Given the description of an element on the screen output the (x, y) to click on. 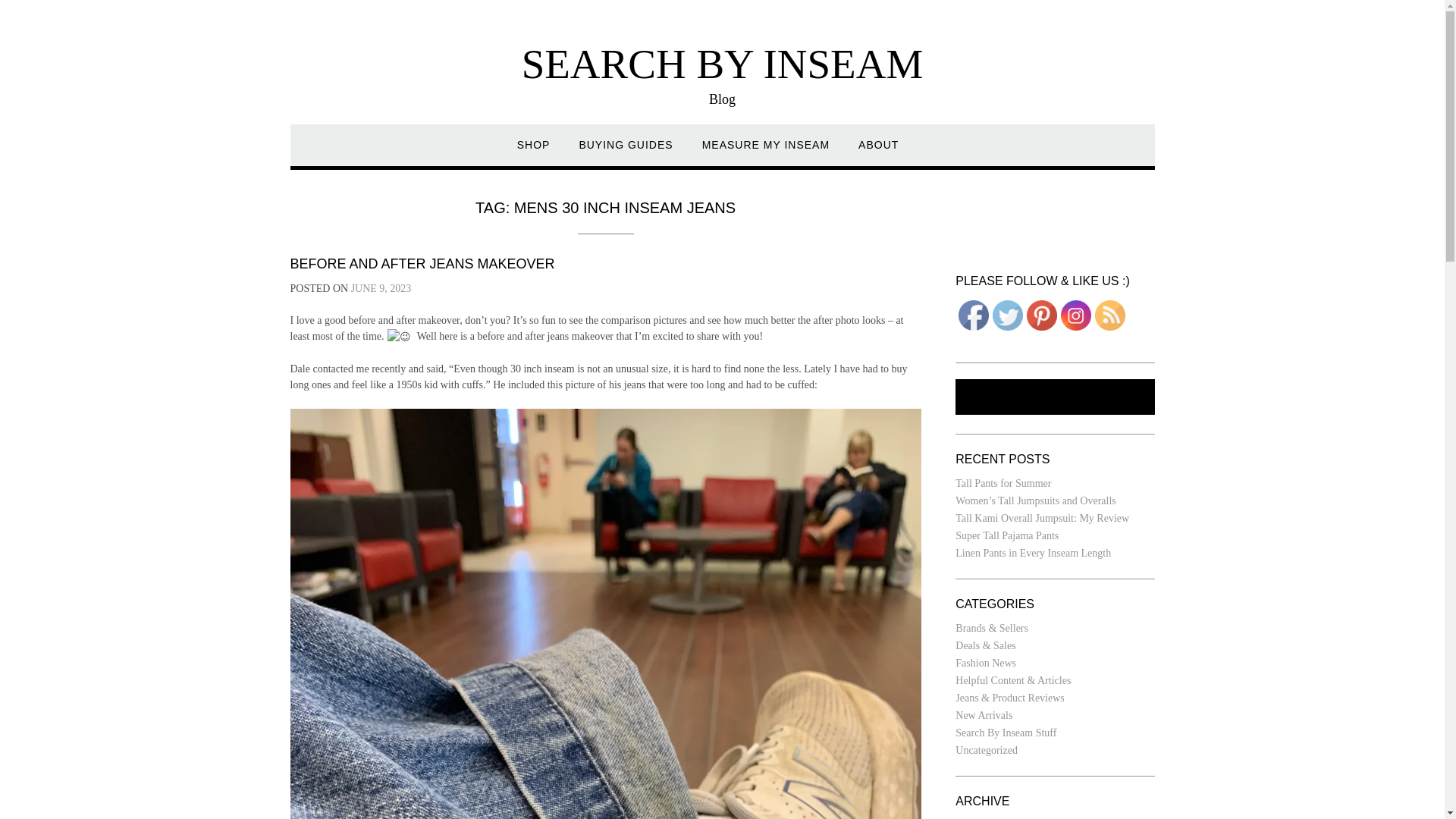
RSS (1109, 315)
SEARCH BY INSEAM (722, 63)
Instagram (1075, 315)
Twitter (1007, 315)
Newsletter Sign-up (1054, 396)
Pinterest (1041, 315)
JUNE 9, 2023 (381, 288)
SEARCH BY INSEAM (722, 63)
BEFORE AND AFTER JEANS MAKEOVER (421, 263)
ABOUT (878, 152)
